Given the description of an element on the screen output the (x, y) to click on. 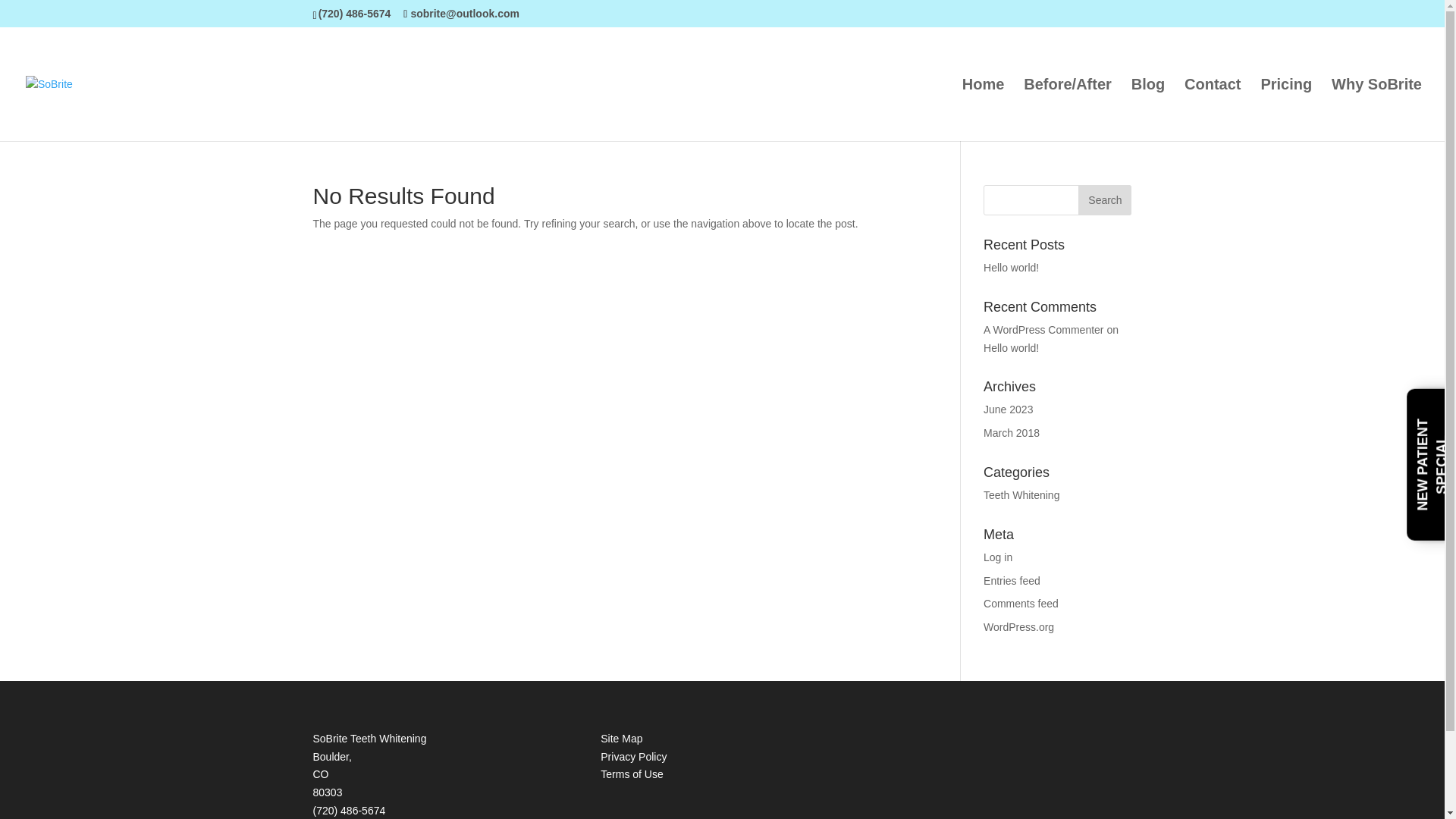
A WordPress Commenter (1043, 329)
Site Map (620, 738)
Why SoBrite (1377, 109)
Search (1104, 200)
WordPress.org (1019, 626)
Privacy Policy (632, 756)
Log in (997, 557)
Pricing (1285, 109)
Home (983, 109)
Blog (1147, 109)
Terms of Use (630, 774)
March 2018 (1011, 432)
Hello world! (1011, 267)
Entries feed (1012, 580)
Hello world! (1011, 347)
